Given the description of an element on the screen output the (x, y) to click on. 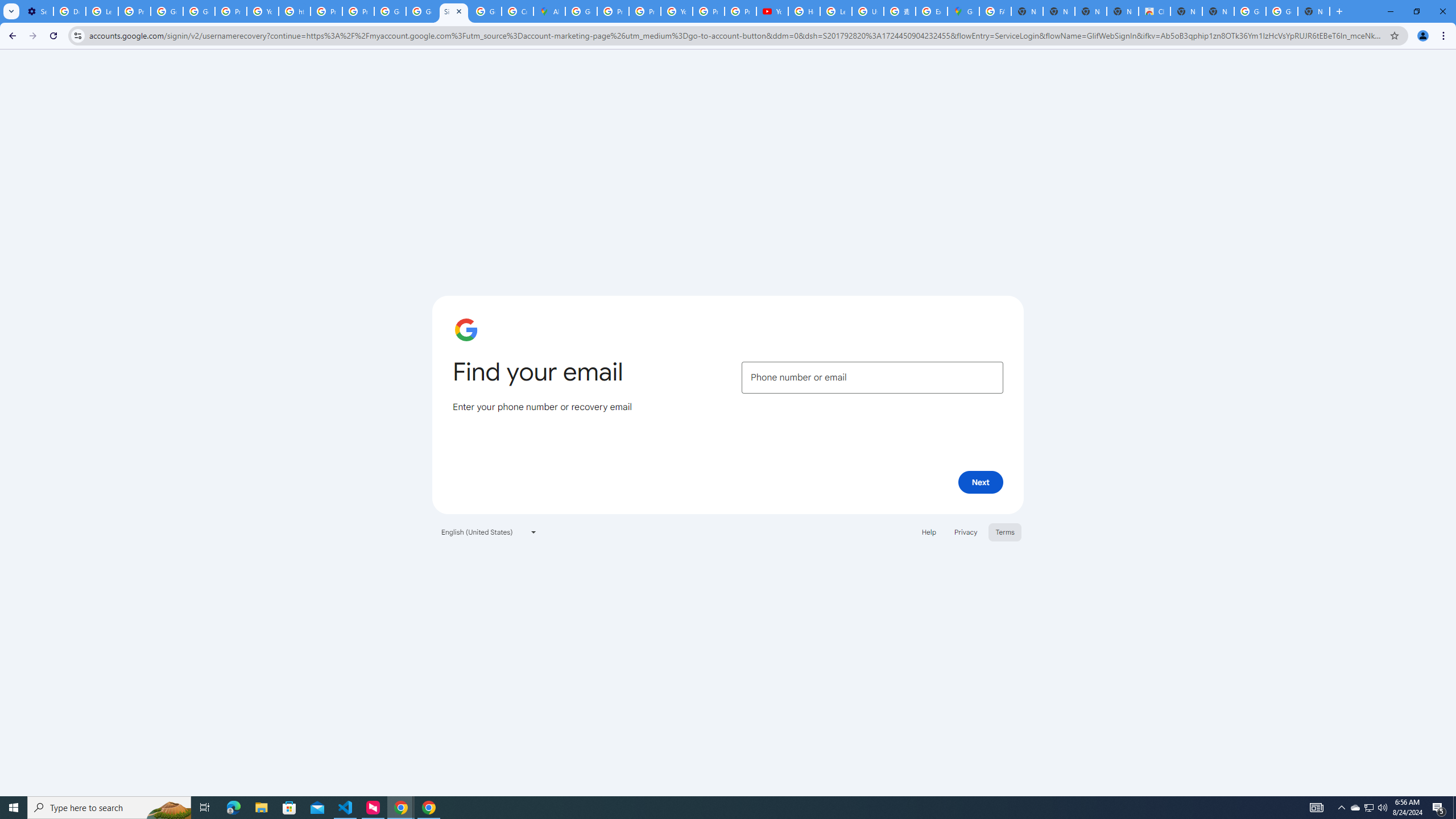
Create your Google Account (517, 11)
YouTube (772, 11)
Next (980, 481)
https://scholar.google.com/ (294, 11)
Privacy Help Center - Policies Help (326, 11)
Settings - On startup (37, 11)
New Tab (1313, 11)
Phone number or email (872, 377)
